Given the description of an element on the screen output the (x, y) to click on. 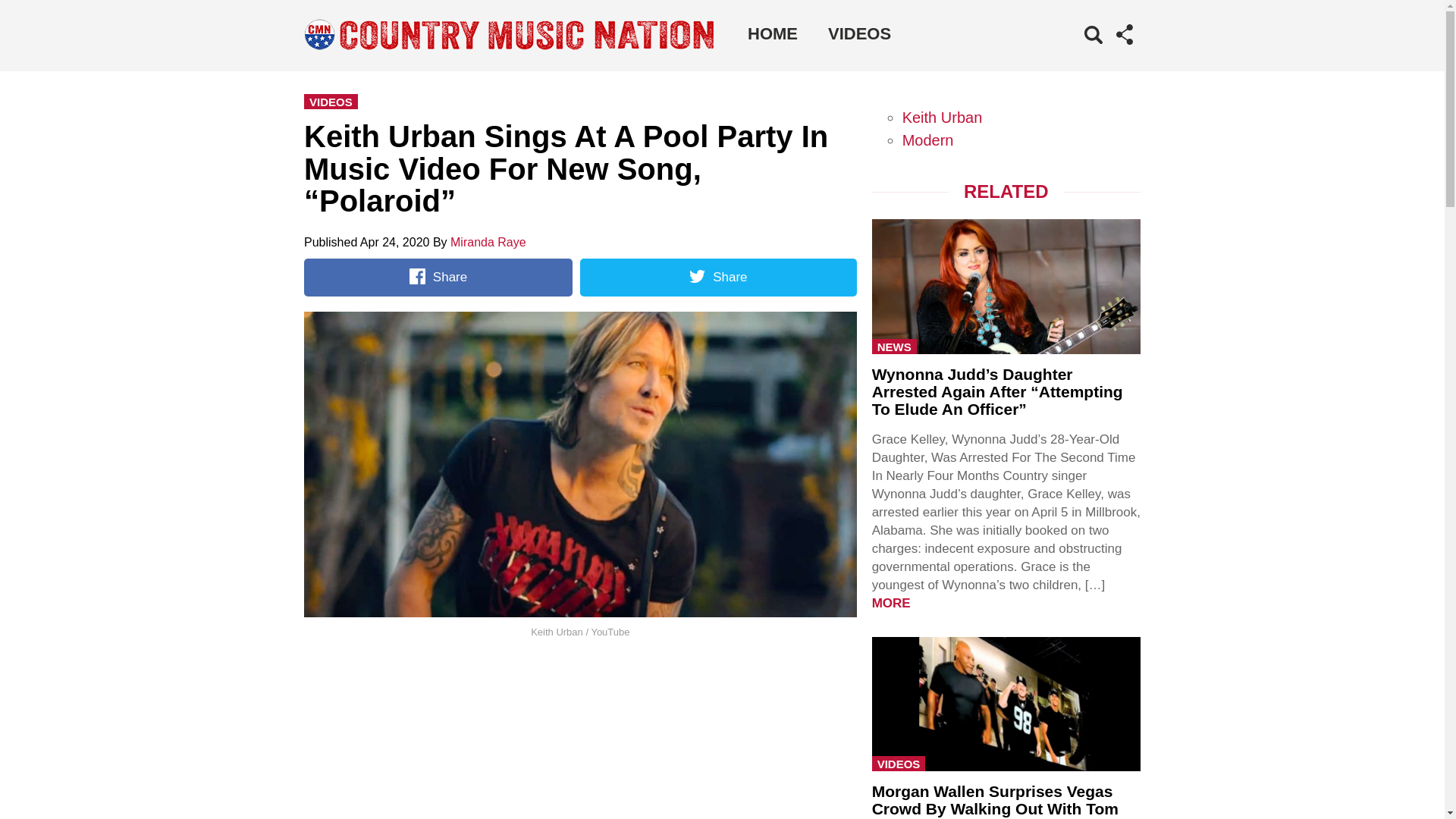
MORE (891, 603)
Share (438, 277)
Share (717, 277)
VIDEOS (858, 33)
NEWS (894, 346)
Search (1071, 57)
Search (1071, 57)
Home (772, 33)
VIDEOS (331, 101)
